Given the description of an element on the screen output the (x, y) to click on. 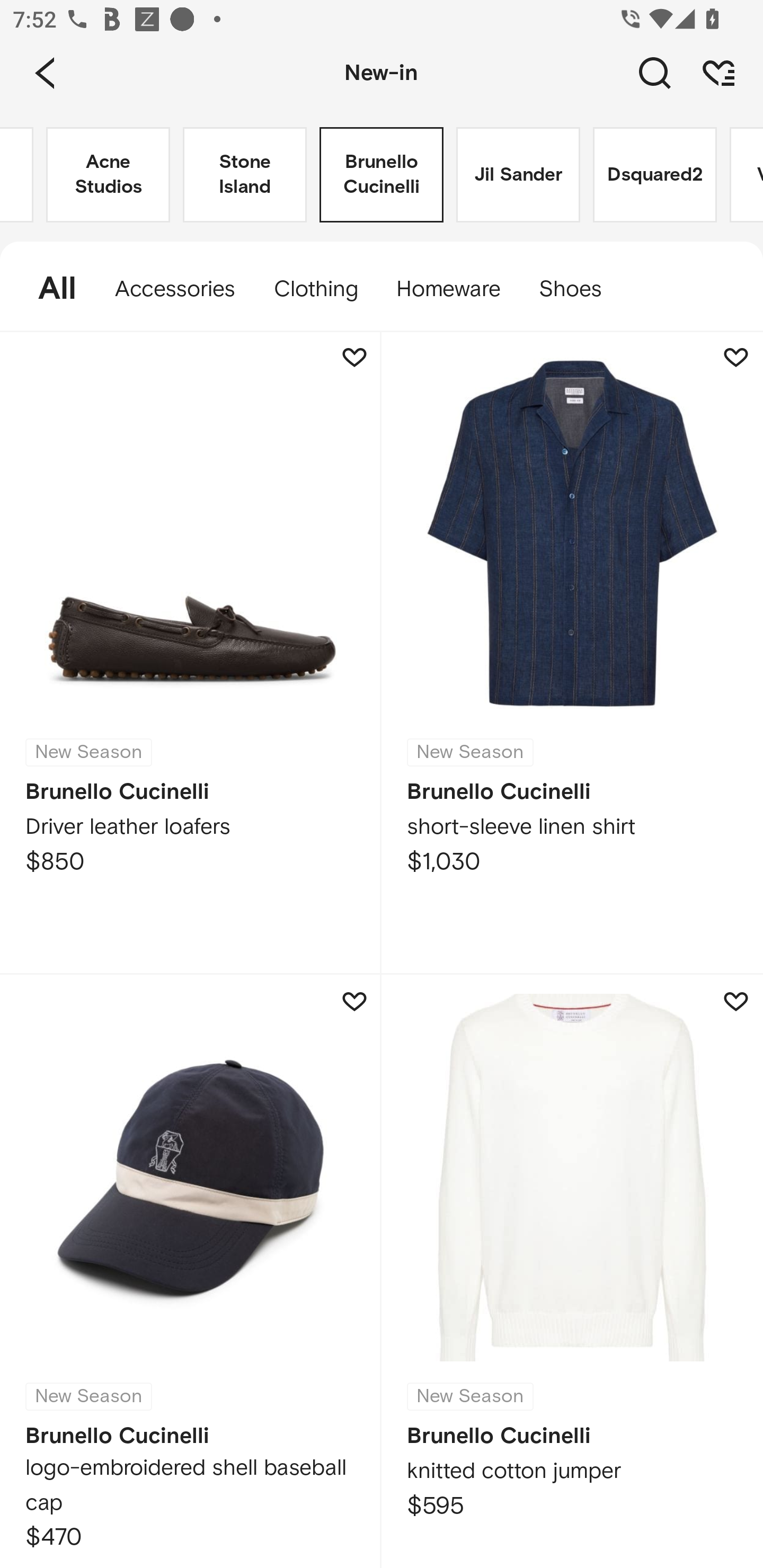
Acne Studios (107, 174)
Stone Island (244, 174)
Brunello Cucinelli (381, 174)
Jil Sander (517, 174)
Dsquared2 (654, 174)
All (47, 288)
Accessories (174, 288)
Clothing (315, 288)
Homeware (447, 288)
Shoes (579, 288)
